Given the description of an element on the screen output the (x, y) to click on. 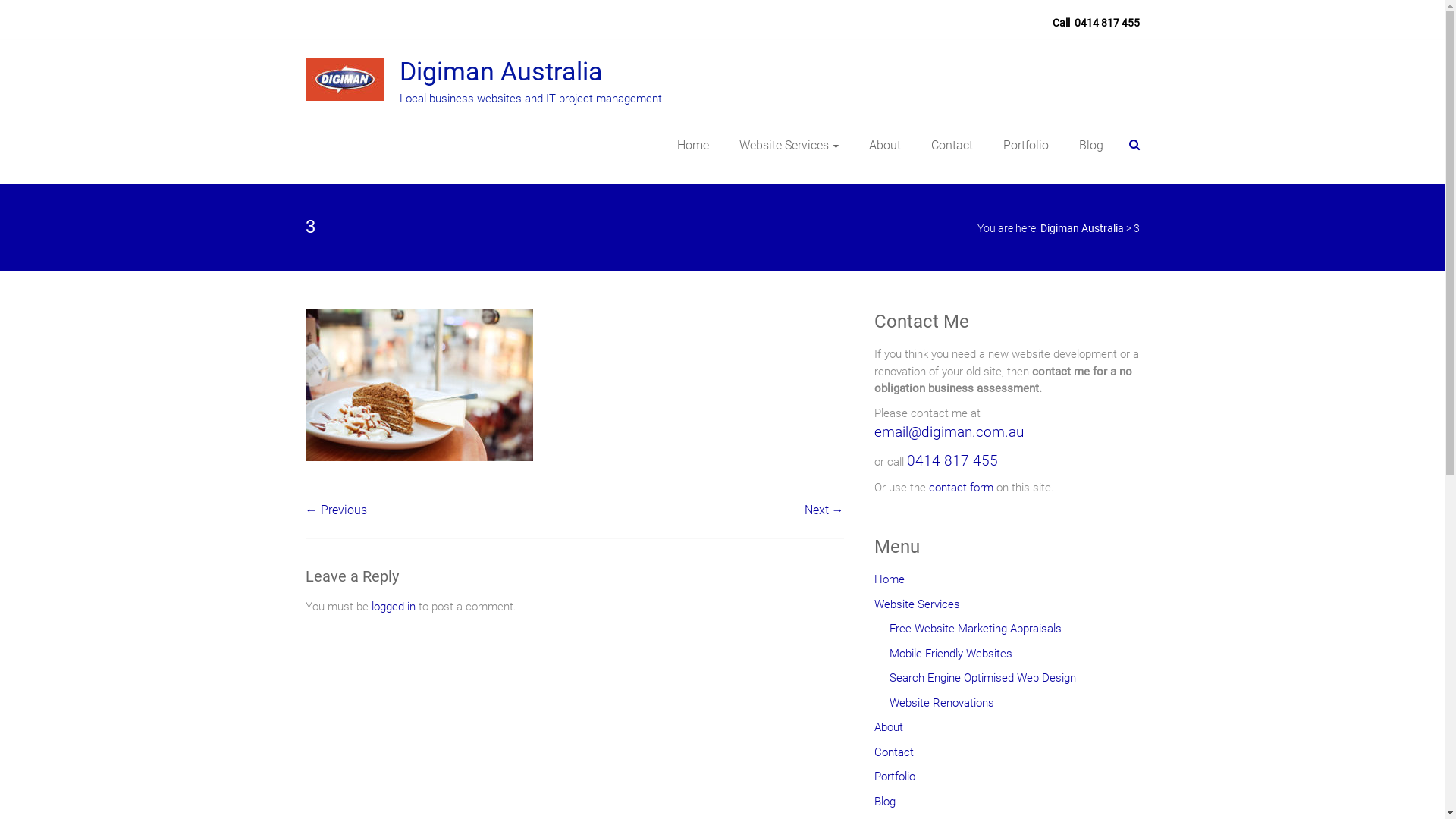
Home Element type: text (888, 583)
Website Services Element type: text (916, 608)
Website Services Element type: text (787, 145)
About Element type: text (884, 145)
Mobile Friendly Websites Element type: text (949, 657)
Website Renovations Element type: text (940, 706)
Contact Element type: text (893, 755)
Digiman Australia Element type: text (500, 71)
Blog Element type: text (883, 805)
email@digiman.com.au Element type: text (947, 432)
Portfolio Element type: text (893, 780)
Free Website Marketing Appraisals Element type: text (974, 632)
Blog Element type: text (1090, 145)
Contact Element type: text (951, 145)
Portfolio Element type: text (1025, 145)
logged in Element type: text (393, 606)
Digiman Australia Element type: text (1081, 228)
contact form Element type: text (960, 487)
Search Engine Optimised Web Design Element type: text (981, 681)
Home Element type: text (692, 145)
About Element type: text (887, 730)
